Given the description of an element on the screen output the (x, y) to click on. 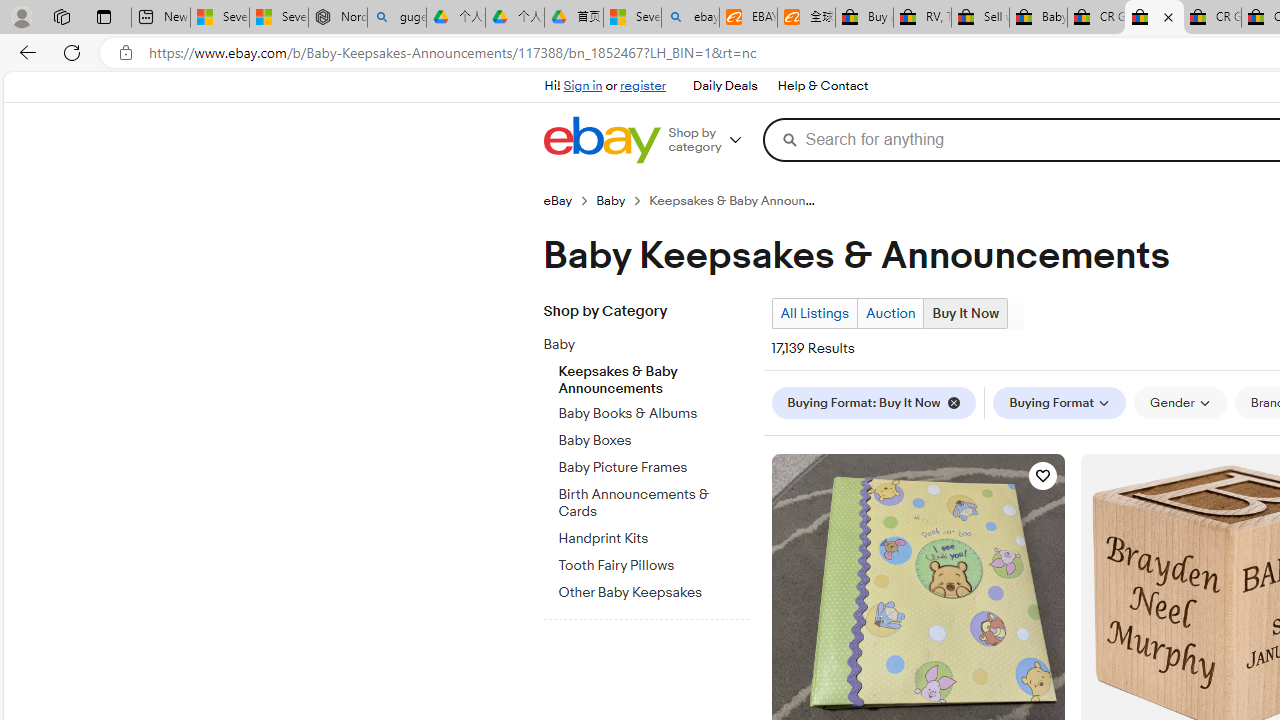
Gender (1180, 402)
Gender (1180, 403)
Buy It Now Current view (965, 313)
Baby Boxes (653, 441)
eBay (569, 200)
Buying Format: Buy It Now- Remove Filter (877, 402)
Baby Picture Frames (653, 468)
Keepsakes & Baby Announcements (653, 375)
